Given the description of an element on the screen output the (x, y) to click on. 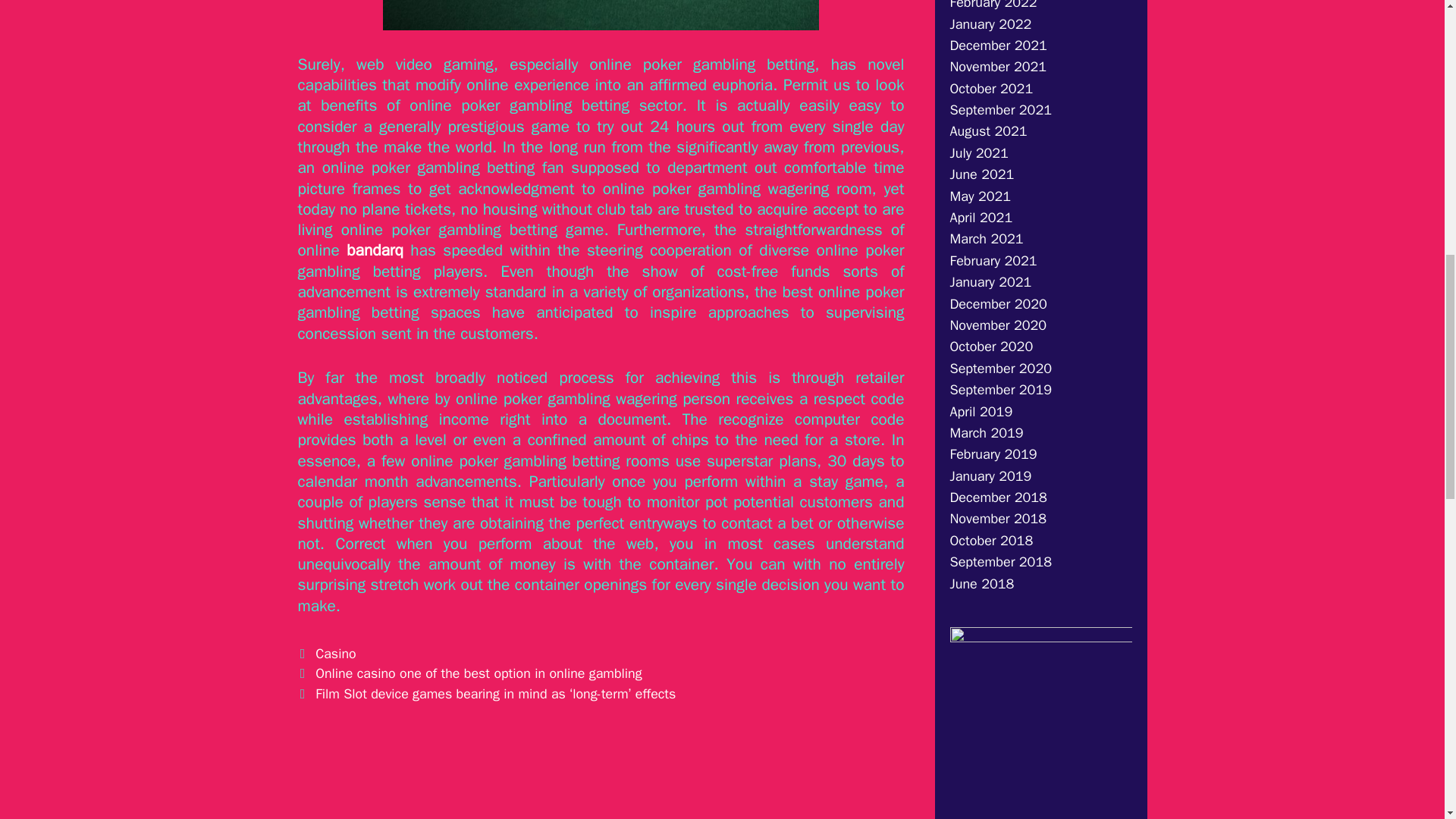
Next (486, 693)
Previous (469, 673)
Online casino one of the best option in online gambling (478, 673)
Casino (335, 653)
bandarq (374, 250)
